Given the description of an element on the screen output the (x, y) to click on. 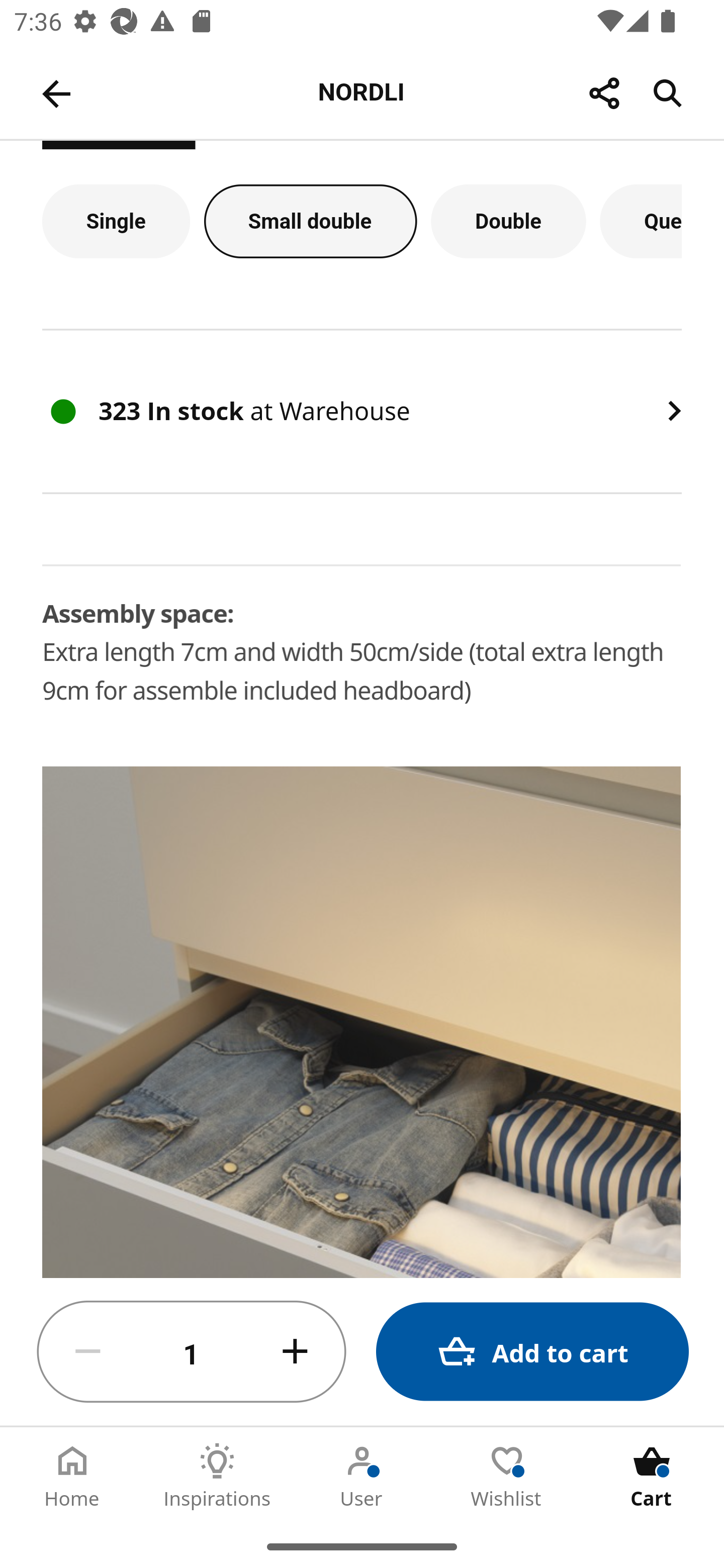
Single (115, 221)
Small double (310, 221)
Double (508, 221)
323 In stock at Warehouse (361, 411)
search?q=stotta (362, 1107)
Add to cart (531, 1352)
1 (191, 1352)
Home
Tab 1 of 5 (72, 1476)
Inspirations
Tab 2 of 5 (216, 1476)
User
Tab 3 of 5 (361, 1476)
Wishlist
Tab 4 of 5 (506, 1476)
Cart
Tab 5 of 5 (651, 1476)
